Given the description of an element on the screen output the (x, y) to click on. 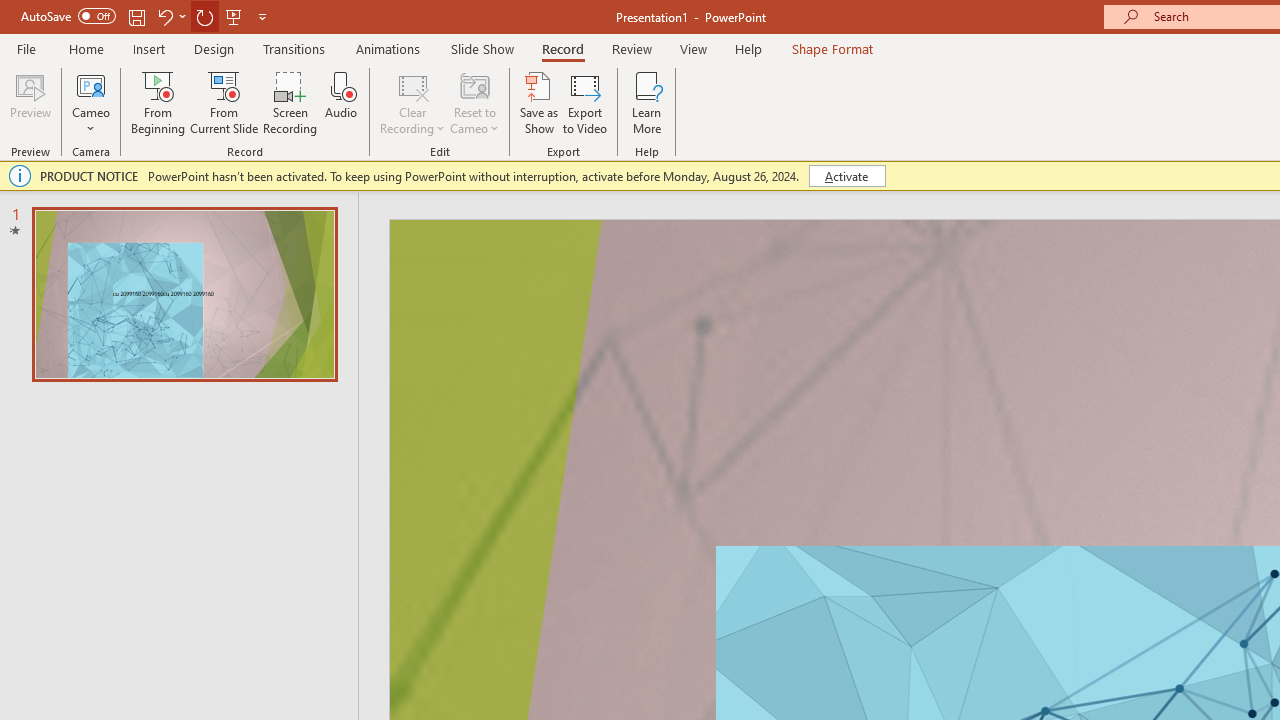
Activate (846, 175)
